Given the description of an element on the screen output the (x, y) to click on. 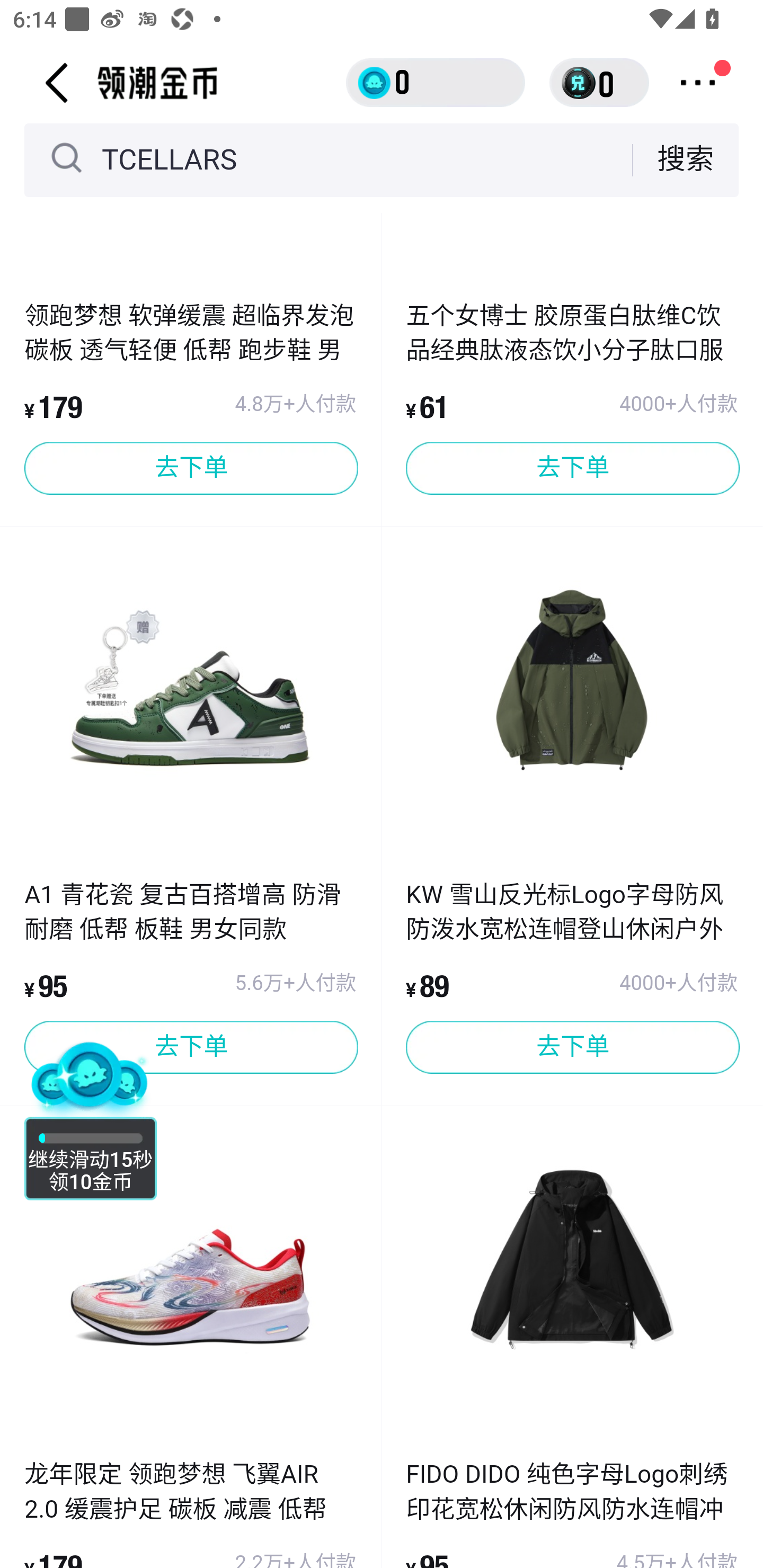
搜索 (685, 159)
去下单 (190, 467)
去下单 (572, 467)
A1 青花瓷 复古百搭增高 防滑耐磨 低帮 板鞋 男女同款 ¥ 95 5.6万+人付款 去下单 (190, 975)
去下单 (190, 1047)
去下单 (572, 1047)
